Given the description of an element on the screen output the (x, y) to click on. 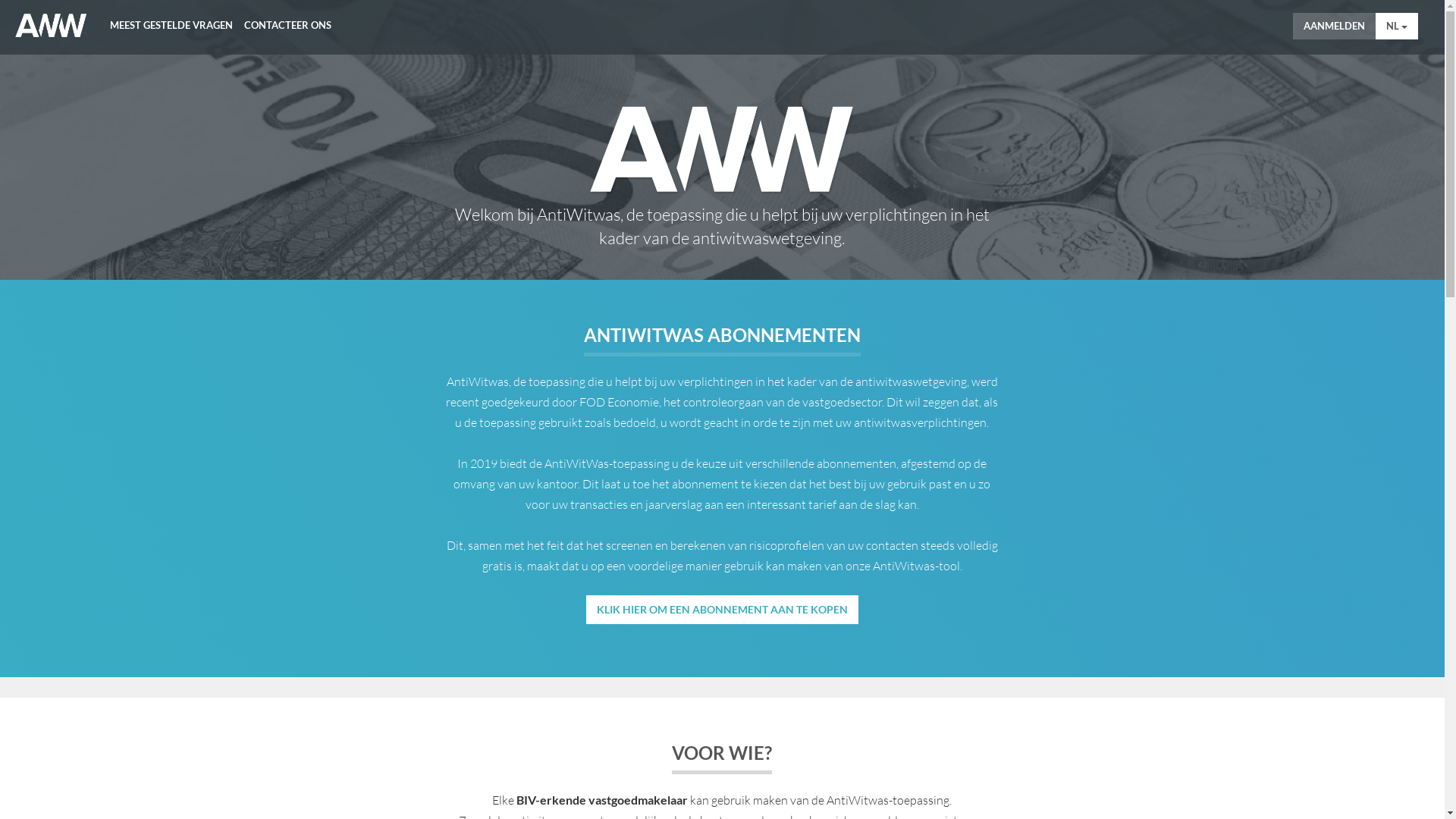
MEEST GESTELDE VRAGEN Element type: text (170, 19)
KLIK HIER OM EEN ABONNEMENT AAN TE KOPEN Element type: text (722, 609)
CONTACTEER ONS Element type: text (287, 19)
AANMELDEN Element type: text (1333, 25)
NL Element type: text (1396, 25)
AntiWitWas-manager Element type: text (51, 25)
